Given the description of an element on the screen output the (x, y) to click on. 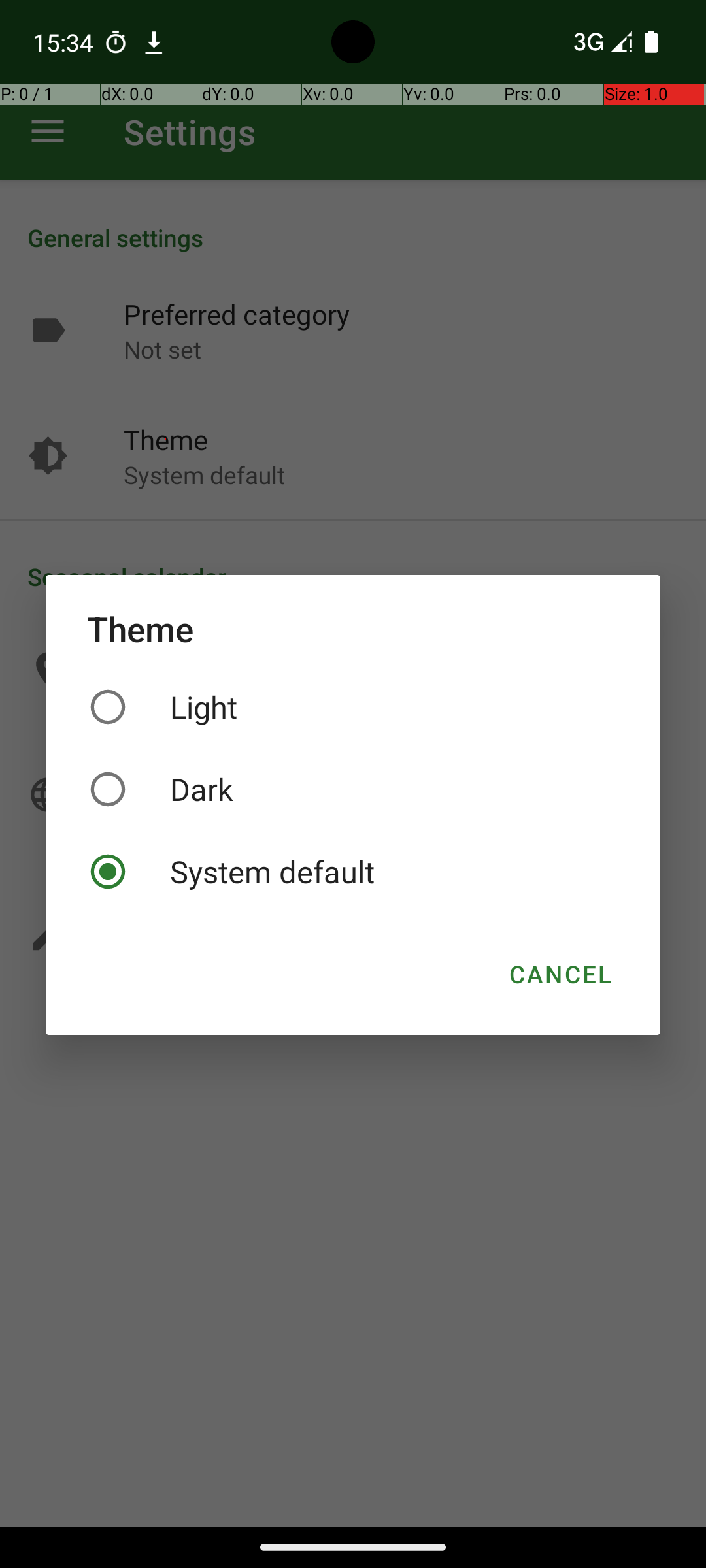
Light Element type: android.widget.CheckedTextView (352, 706)
Dark Element type: android.widget.CheckedTextView (352, 789)
